Given the description of an element on the screen output the (x, y) to click on. 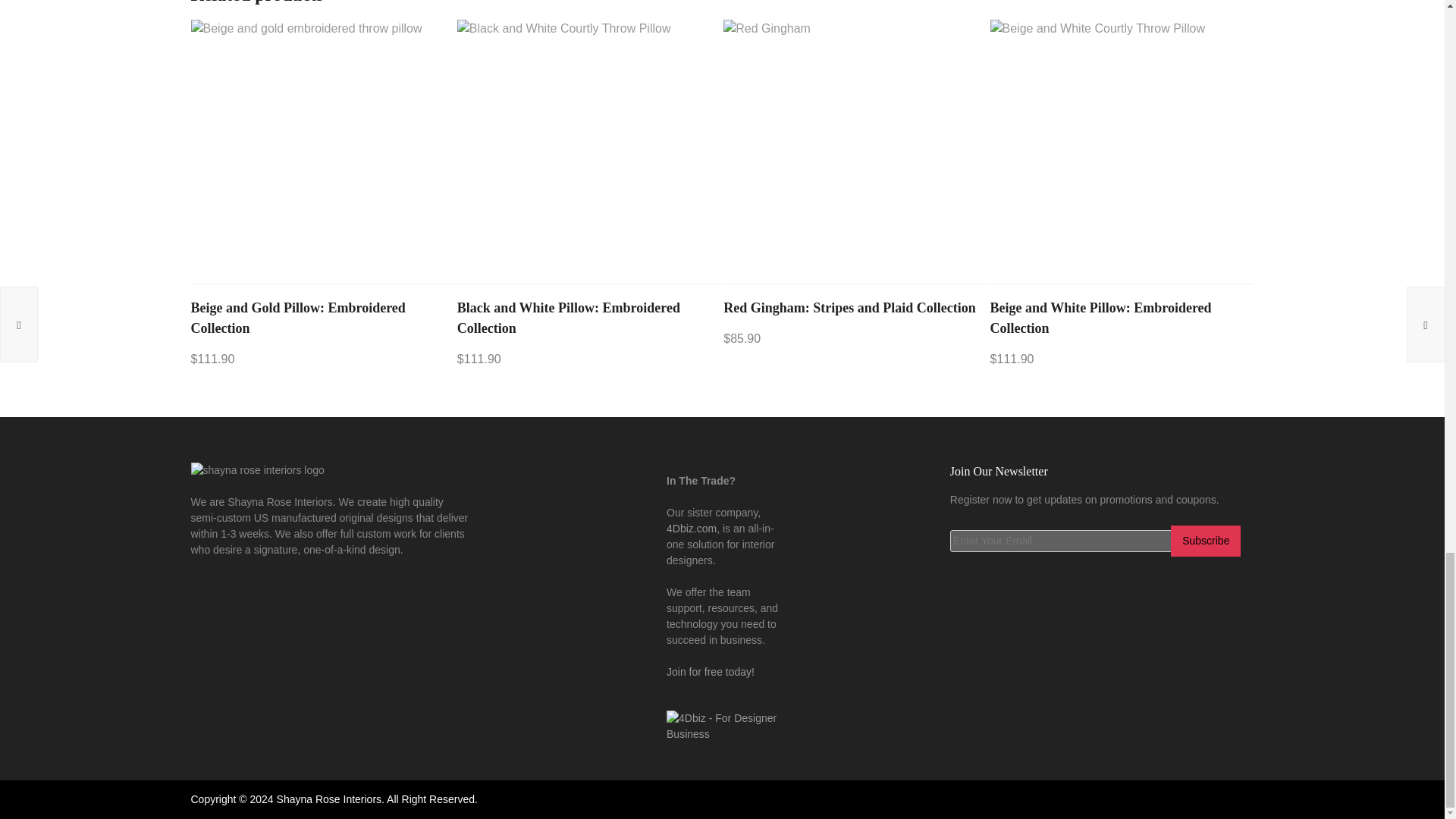
Subscribe (1205, 540)
